Given the description of an element on the screen output the (x, y) to click on. 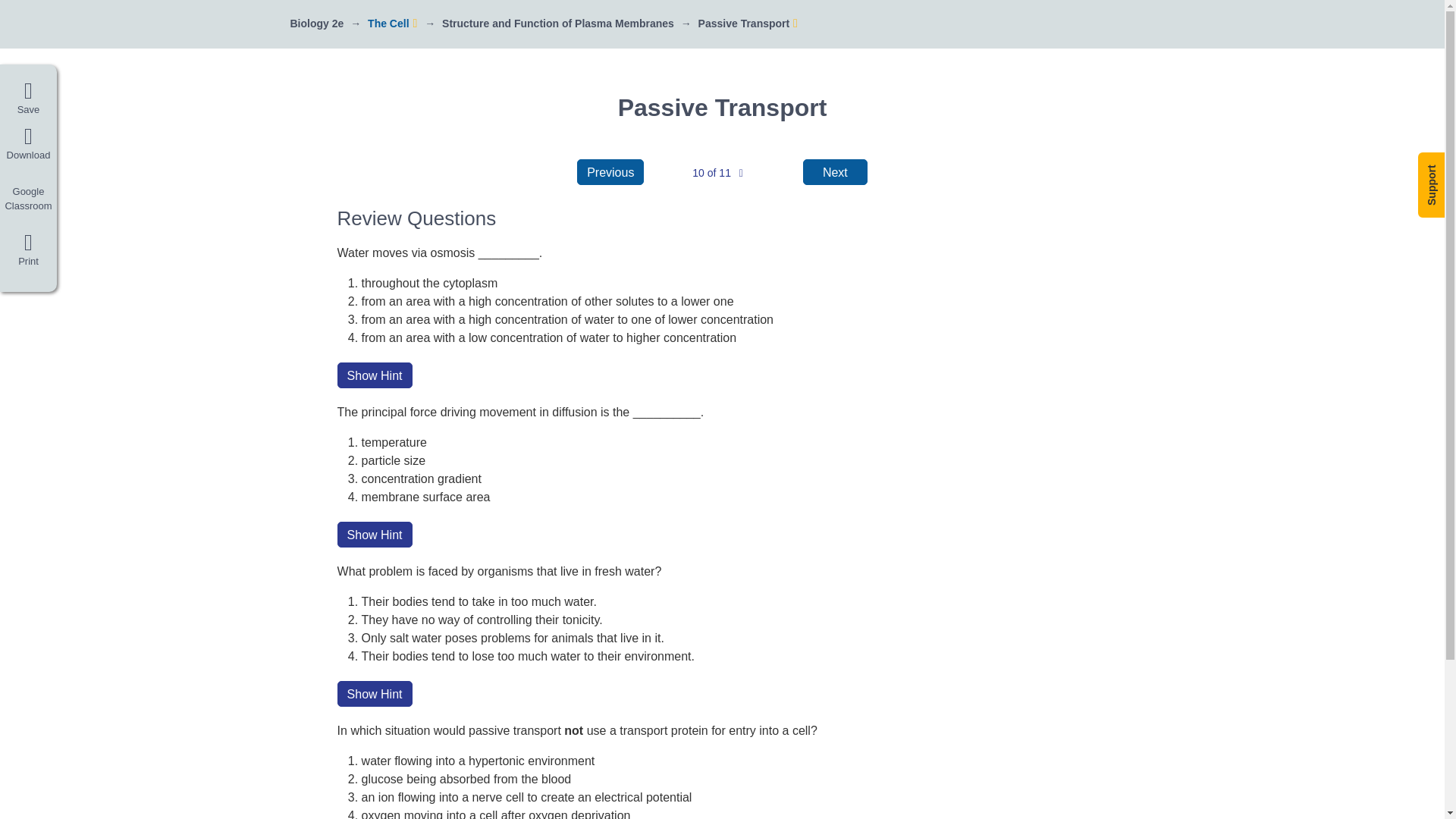
Download (28, 144)
10 of 11 (717, 173)
The Cell (388, 23)
Previous (609, 171)
Print (28, 253)
Next (835, 171)
Download (28, 144)
Previous (609, 171)
Save (28, 98)
